Given the description of an element on the screen output the (x, y) to click on. 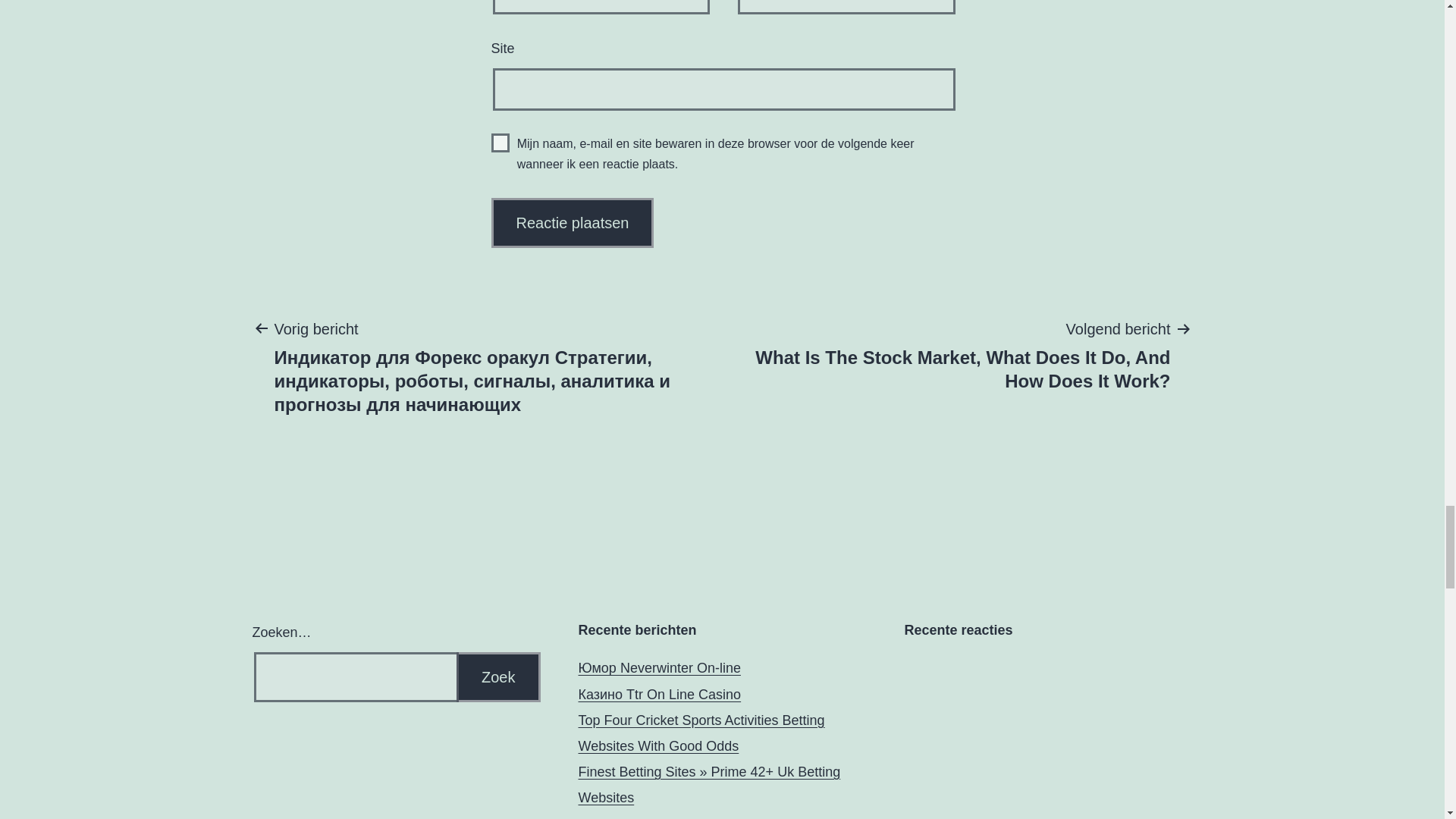
yes (500, 142)
Zoek (498, 676)
Zoek (498, 676)
Zoek (498, 676)
Reactie plaatsen (572, 223)
Reactie plaatsen (572, 223)
